Given the description of an element on the screen output the (x, y) to click on. 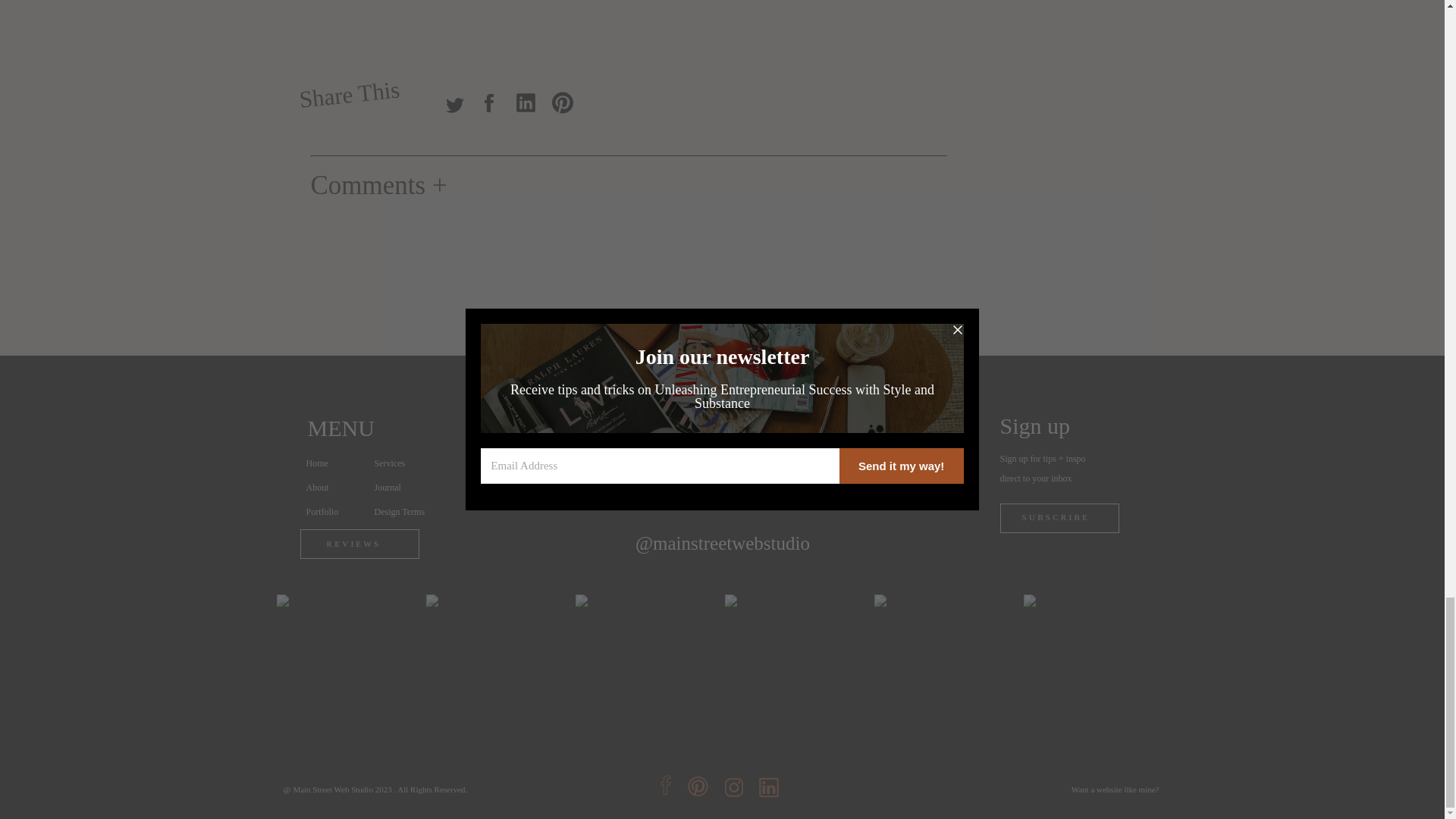
MENU (404, 429)
Portfolio (338, 512)
About (338, 487)
Want a website like mine? (1029, 787)
Home (338, 464)
